Given the description of an element on the screen output the (x, y) to click on. 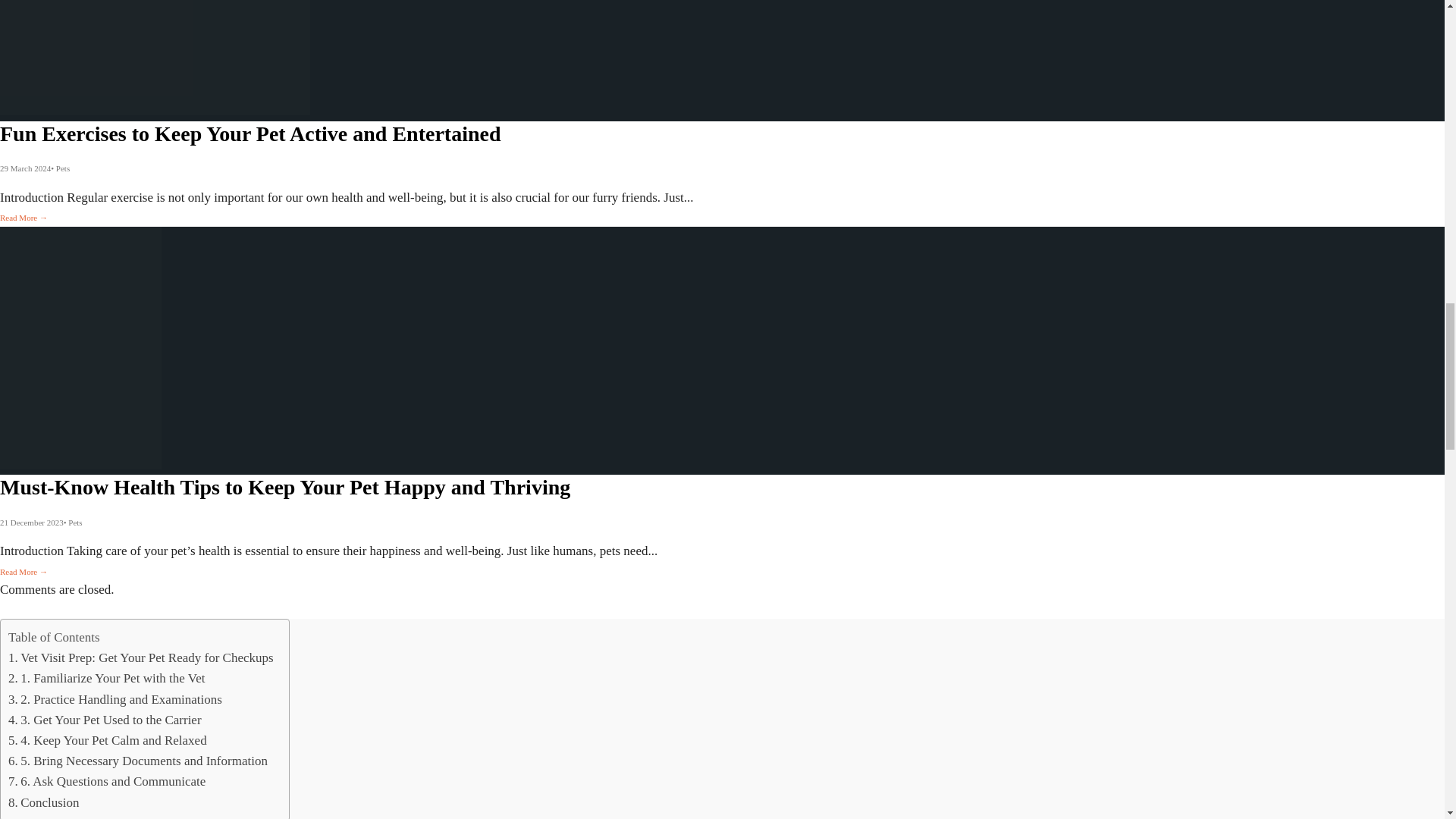
6. Ask Questions and Communicate (106, 781)
Pets (62, 167)
2. Practice Handling and Examinations (115, 699)
2. Practice Handling and Examinations (115, 699)
4. Keep Your Pet Calm and Relaxed (107, 740)
Conclusion (44, 802)
Vet Visit Prep: Get Your Pet Ready for Checkups (140, 657)
Fun Exercises to Keep Your Pet Active and Entertained (250, 133)
3. Get Your Pet Used to the Carrier (105, 720)
Vet Visit Prep: Get Your Pet Ready for Checkups (140, 657)
5. Bring Necessary Documents and Information (137, 761)
4. Keep Your Pet Calm and Relaxed (107, 740)
Conclusion (44, 802)
3. Get Your Pet Used to the Carrier (105, 720)
5. Bring Necessary Documents and Information (137, 761)
